Given the description of an element on the screen output the (x, y) to click on. 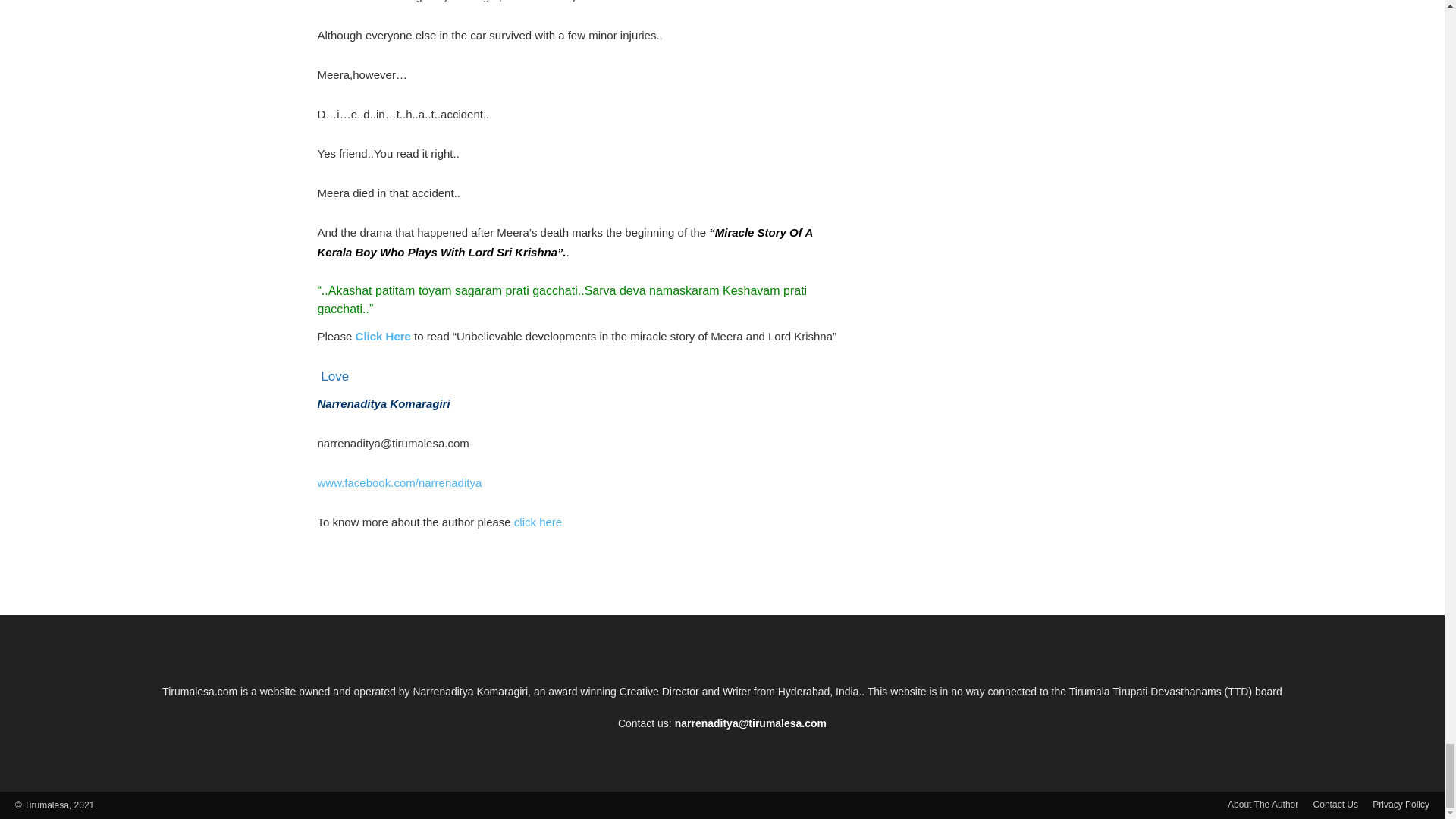
click here (536, 521)
bottomFacebookLike (430, 571)
Click Here (384, 336)
